Given the description of an element on the screen output the (x, y) to click on. 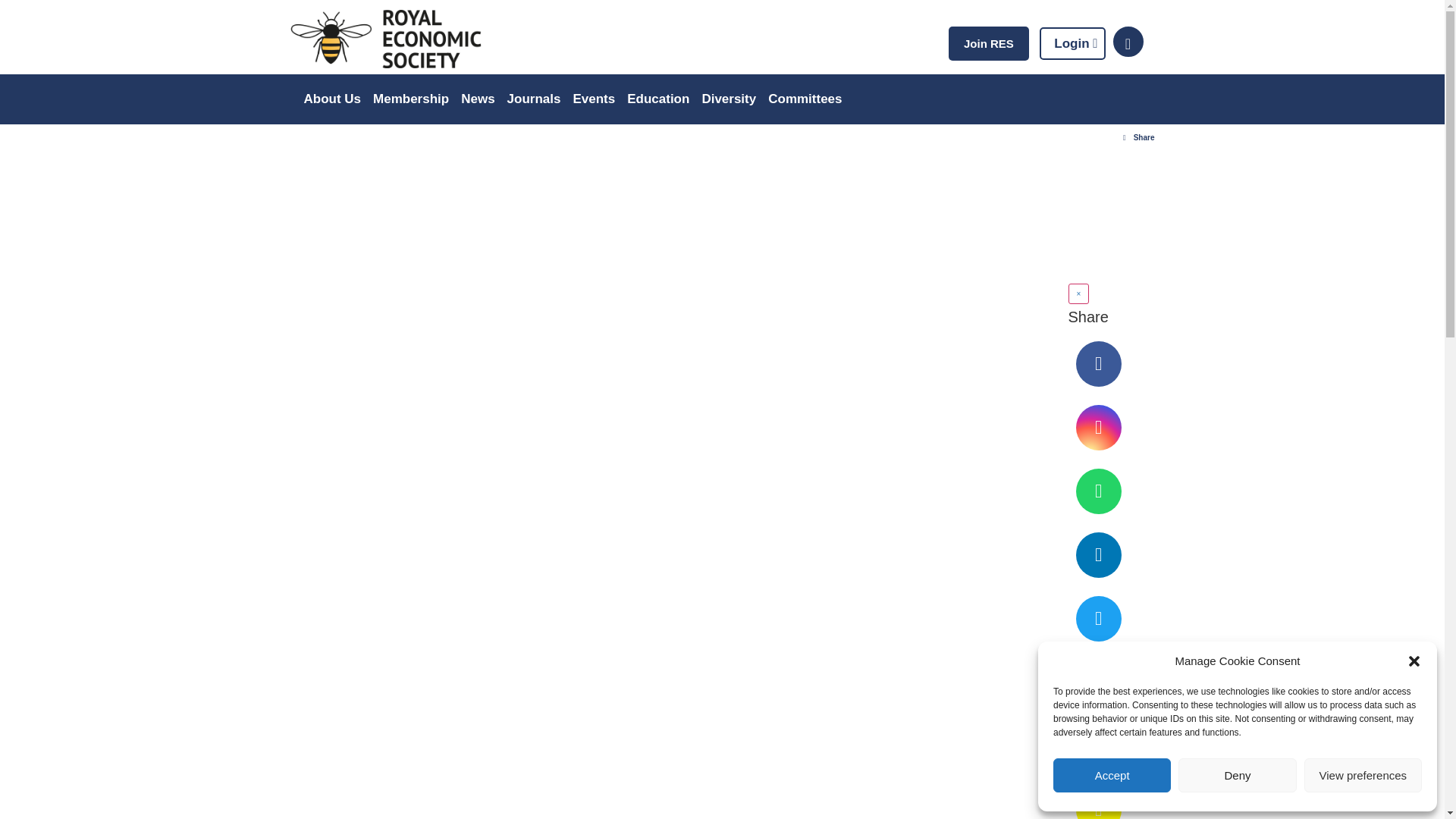
View preferences (1363, 775)
Join RES (988, 42)
GooglePlus (1098, 746)
News (477, 99)
About Us (331, 99)
Accept (1111, 775)
Instagram (1098, 427)
Linkedin (1098, 555)
Journals (533, 99)
Deny (1236, 775)
